Given the description of an element on the screen output the (x, y) to click on. 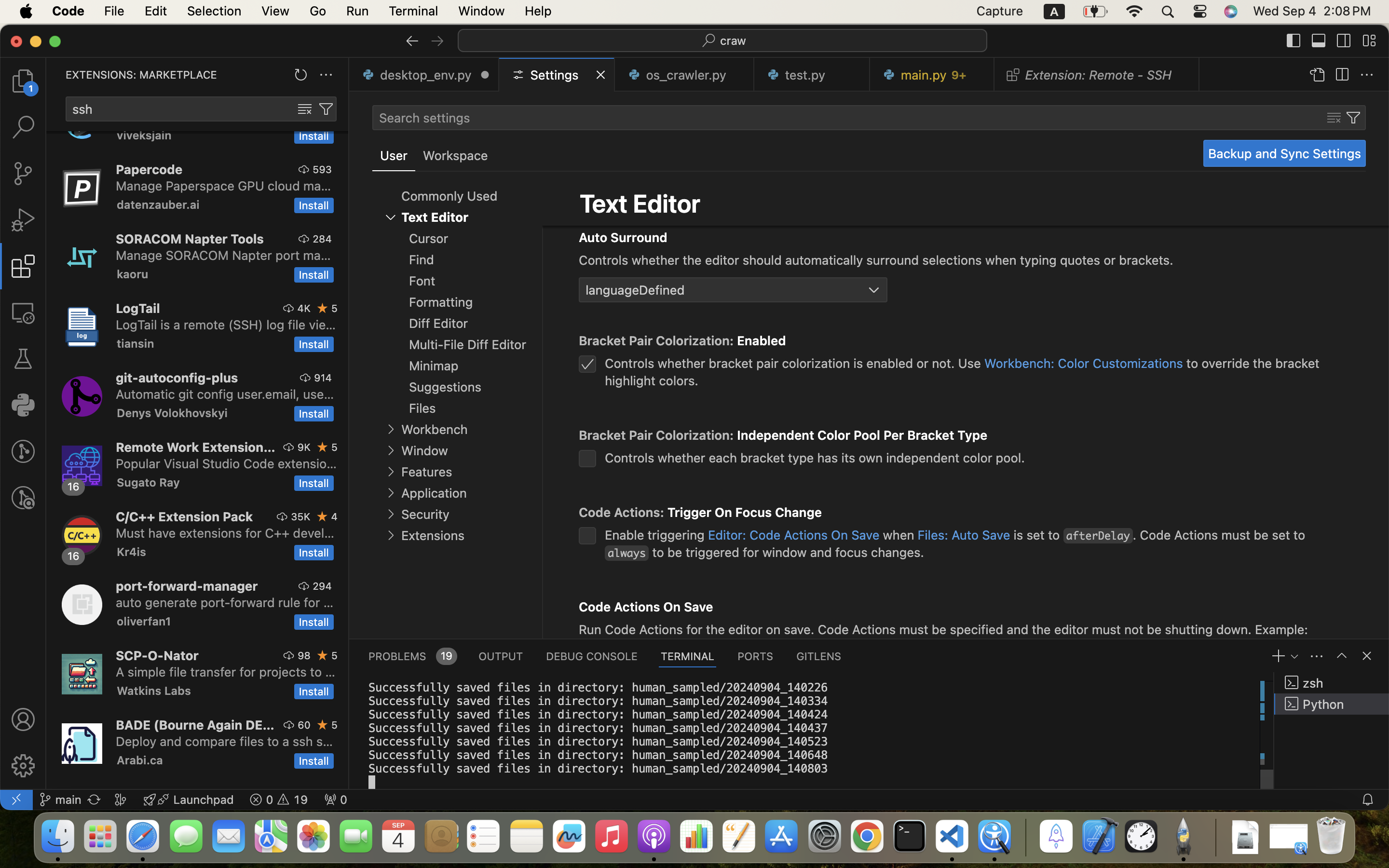
Auto Surround Element type: AXStaticText (622, 237)
19 0   Element type: AXButton (278, 799)
0 DEBUG CONSOLE Element type: AXRadioButton (591, 655)
0 test.py   Element type: AXRadioButton (812, 74)
294 Element type: AXStaticText (321, 585)
